Given the description of an element on the screen output the (x, y) to click on. 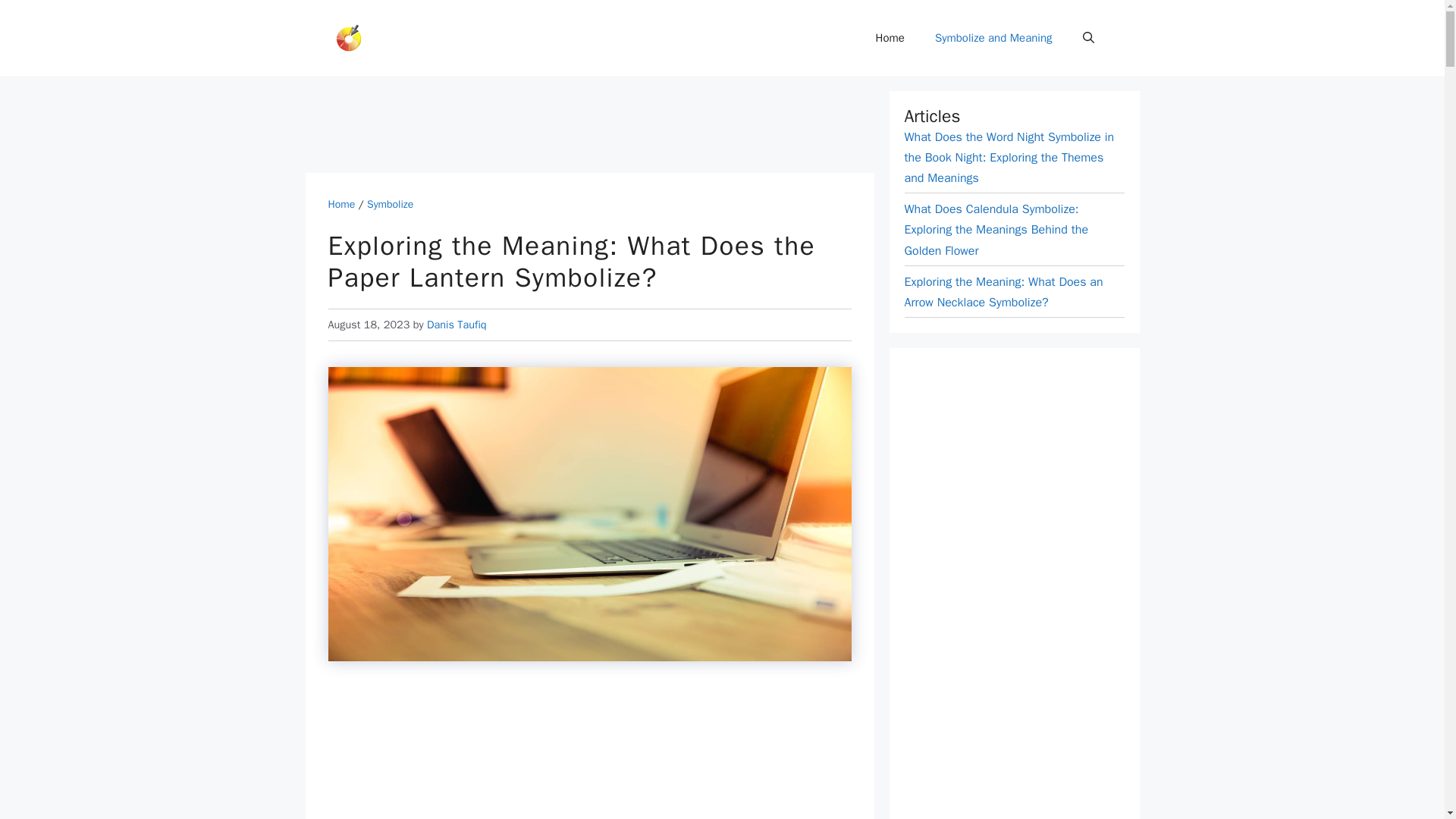
Home (890, 37)
Symbolize (389, 204)
Danis Taufiq (456, 324)
Home (341, 204)
Symbolize and Meaning (993, 37)
View all posts by Danis Taufiq (456, 324)
